Given the description of an element on the screen output the (x, y) to click on. 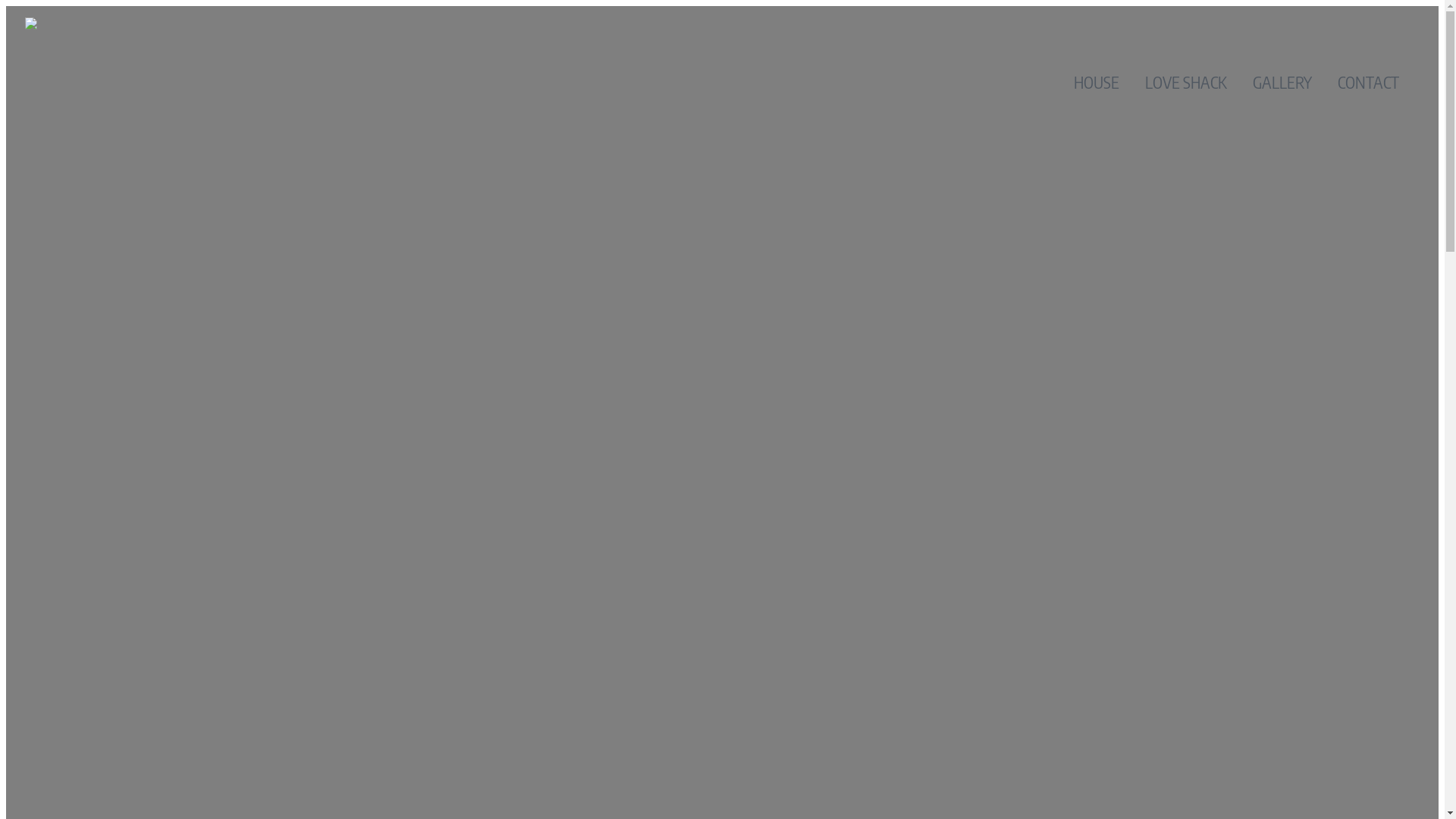
LOVE SHACK Element type: text (1185, 81)
GALLERY Element type: text (1282, 81)
HOUSE Element type: text (1096, 81)
CONTACT Element type: text (1368, 81)
